Given the description of an element on the screen output the (x, y) to click on. 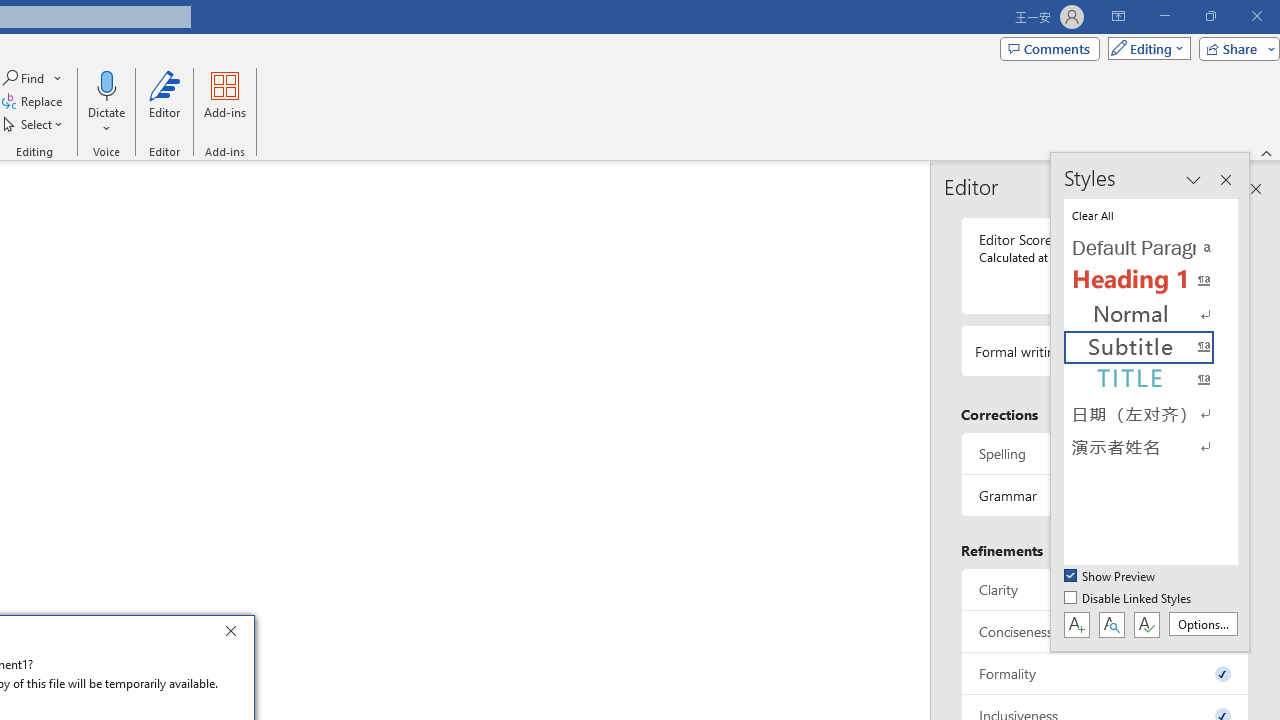
Formality, 0 issues. Press space or enter to review items. (1105, 673)
Normal (1150, 314)
